Given the description of an element on the screen output the (x, y) to click on. 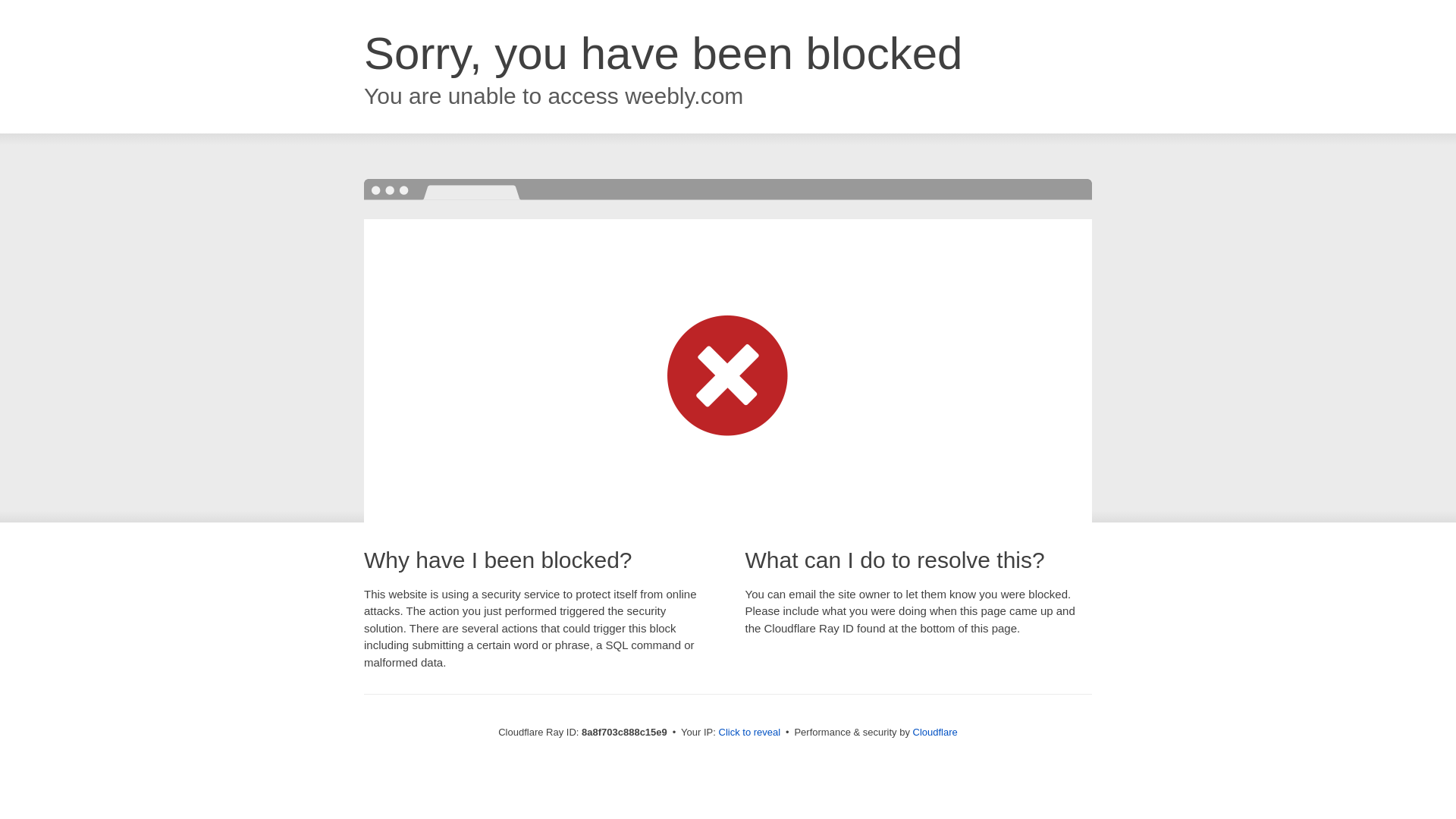
Click to reveal (749, 732)
Cloudflare (935, 731)
